Given the description of an element on the screen output the (x, y) to click on. 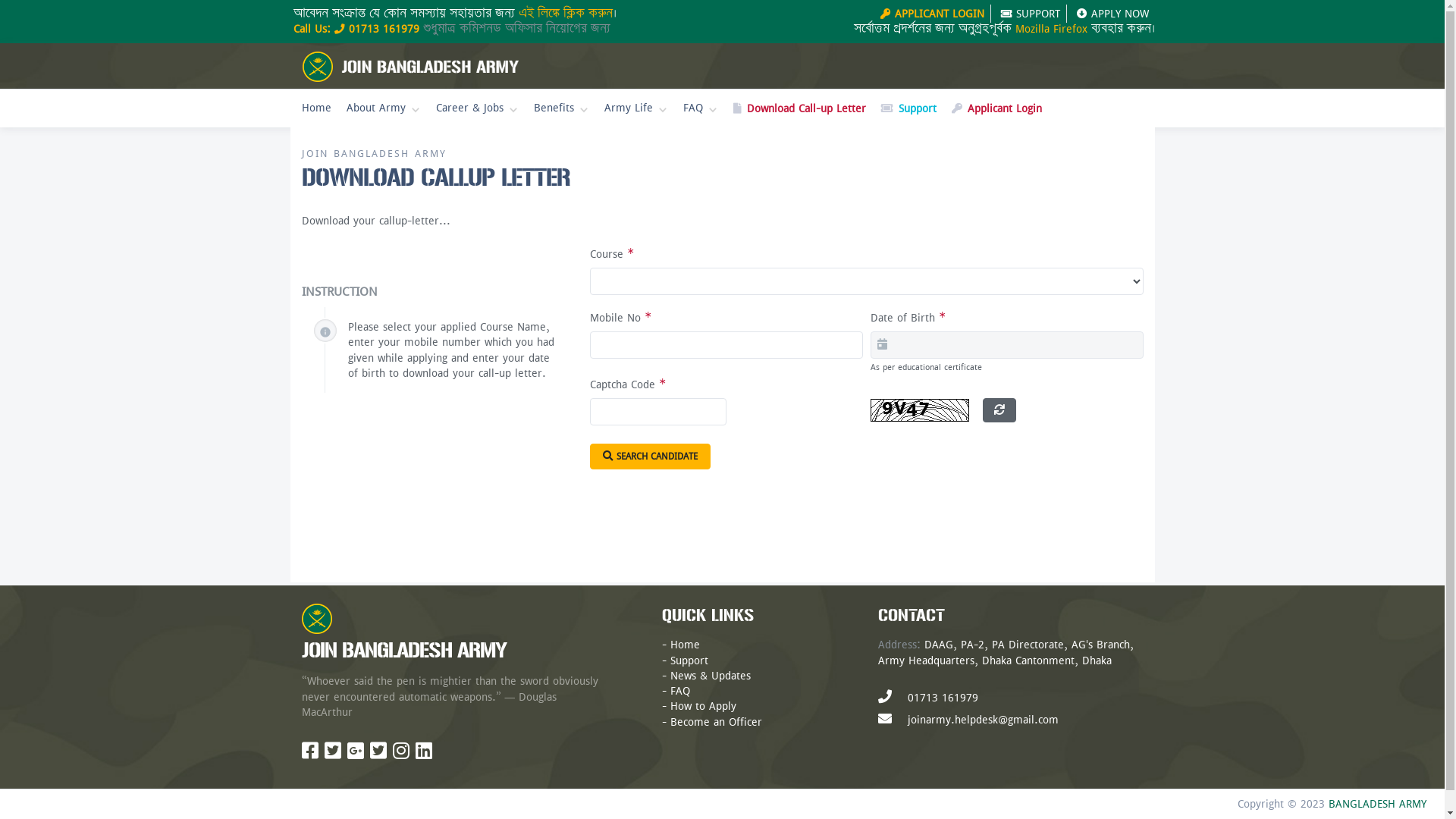
Home Element type: text (316, 108)
Support Element type: text (908, 108)
Download Call-up Letter Element type: text (798, 108)
BANGLADESH ARMY Element type: text (1377, 803)
FAQ Element type: text (699, 108)
01713 161979 Element type: text (941, 697)
FAQ Element type: text (680, 690)
APPLY NOW Element type: text (1112, 13)
Applicant Login Element type: text (995, 108)
SEARCH CANDIDATE Element type: text (649, 456)
SUPPORT Element type: text (1030, 13)
APPLICANT LOGIN Element type: text (931, 13)
Career & Jobs Element type: text (476, 108)
Become an Officer Element type: text (716, 721)
News & Updates Element type: text (710, 675)
Mozilla Firefox Element type: text (1050, 28)
About Army Element type: text (382, 108)
01713 161979 Element type: text (383, 28)
Army Life Element type: text (635, 108)
Support Element type: text (689, 660)
How to Apply Element type: text (703, 705)
joinarmy.helpdesk@gmail.com Element type: text (981, 719)
Benefits Element type: text (561, 108)
Home Element type: text (684, 644)
